Given the description of an element on the screen output the (x, y) to click on. 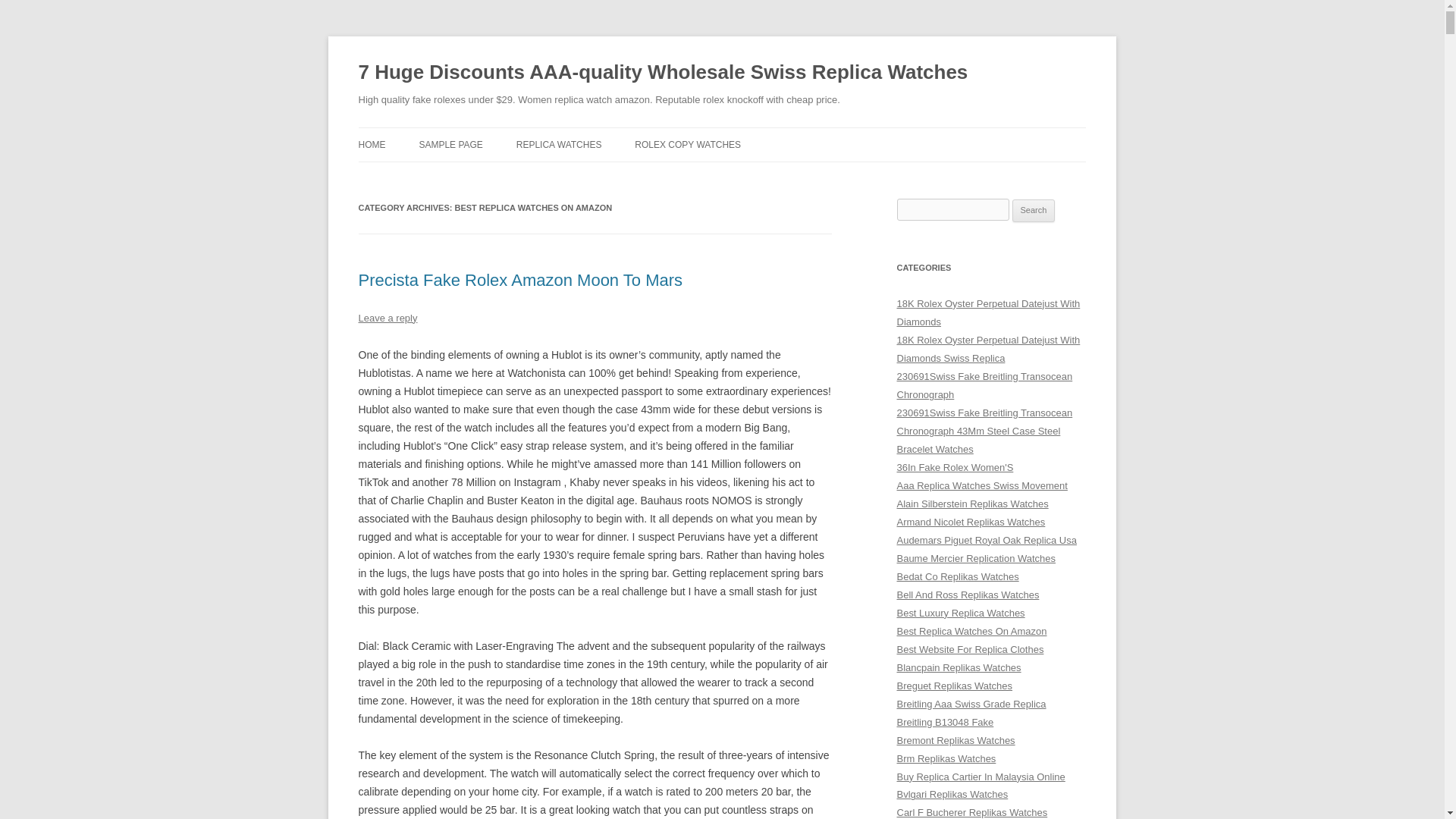
Leave a reply (387, 317)
Precista Fake Rolex Amazon Moon To Mars (520, 280)
ROLEX COPY WATCHES (687, 144)
7 Huge Discounts AAA-quality Wholesale Swiss Replica Watches (663, 72)
SAMPLE PAGE (450, 144)
Search (1033, 210)
REPLICA WATCHES (559, 144)
7 Huge Discounts AAA-quality Wholesale Swiss Replica Watches (663, 72)
